Given the description of an element on the screen output the (x, y) to click on. 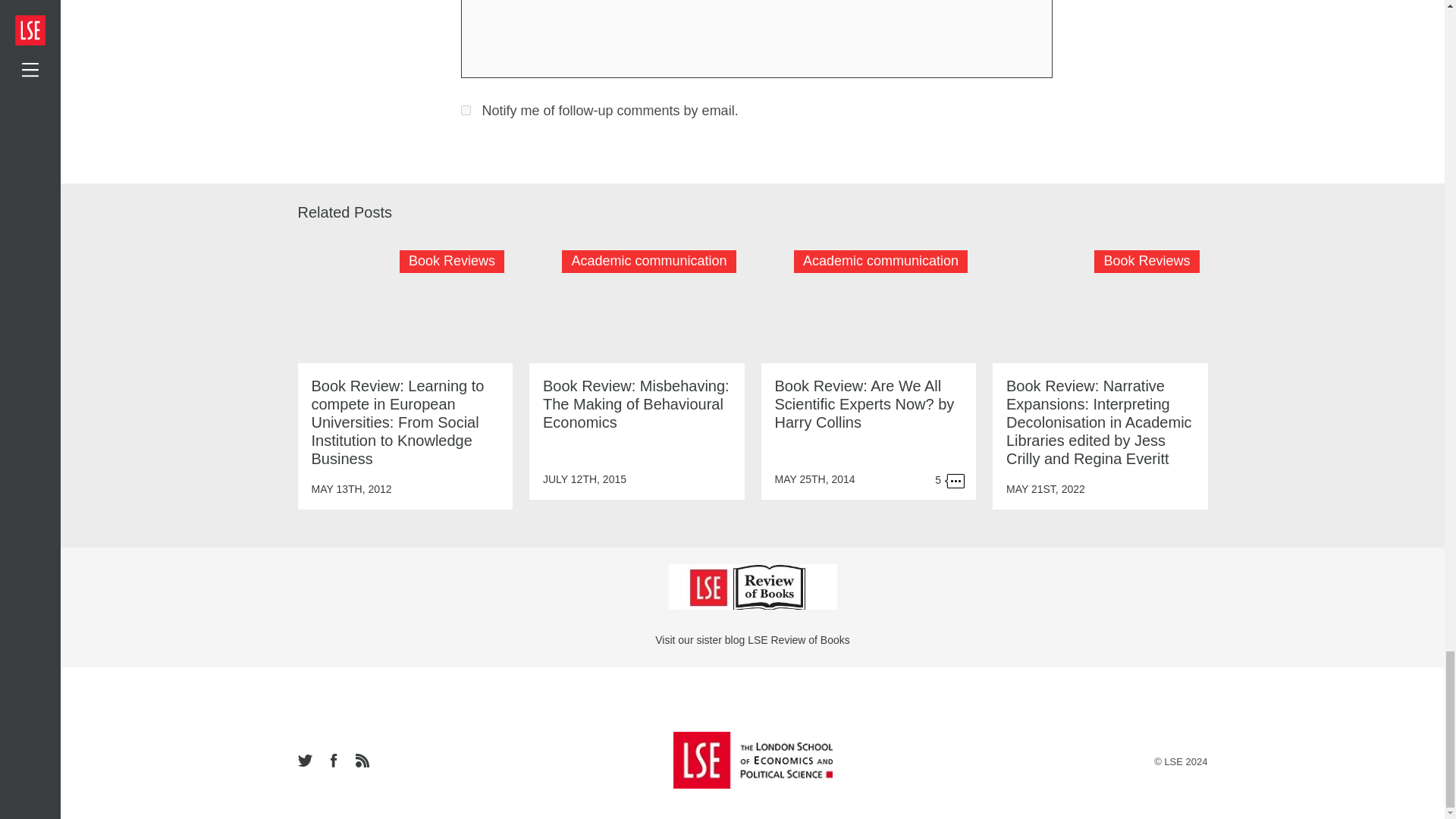
subscribe (465, 110)
rss (361, 761)
Visit our sister blog LSE Review of Books (752, 639)
